Given the description of an element on the screen output the (x, y) to click on. 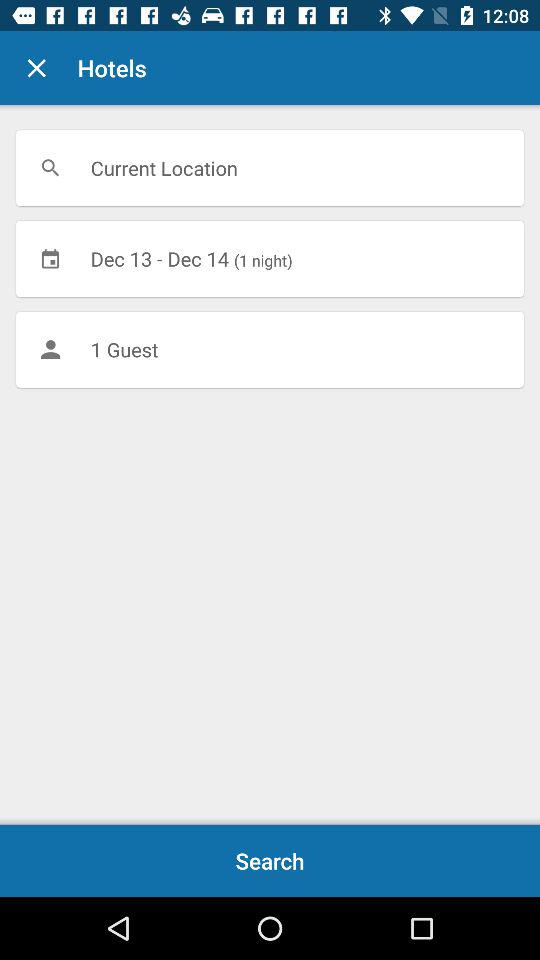
press current location (269, 168)
